Given the description of an element on the screen output the (x, y) to click on. 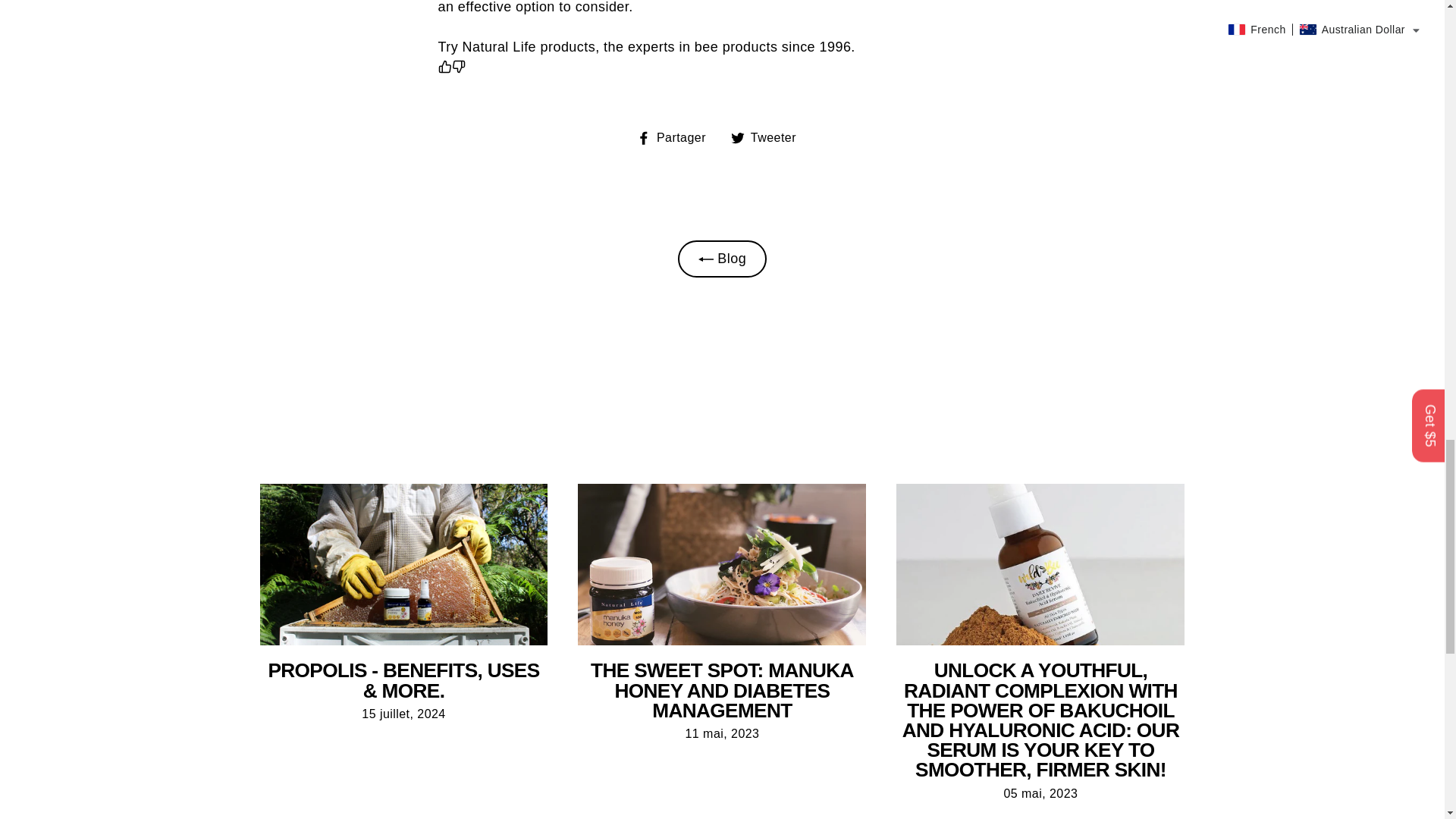
Partager sur Facebook (677, 137)
Tweeter sur Twitter (769, 137)
